Given the description of an element on the screen output the (x, y) to click on. 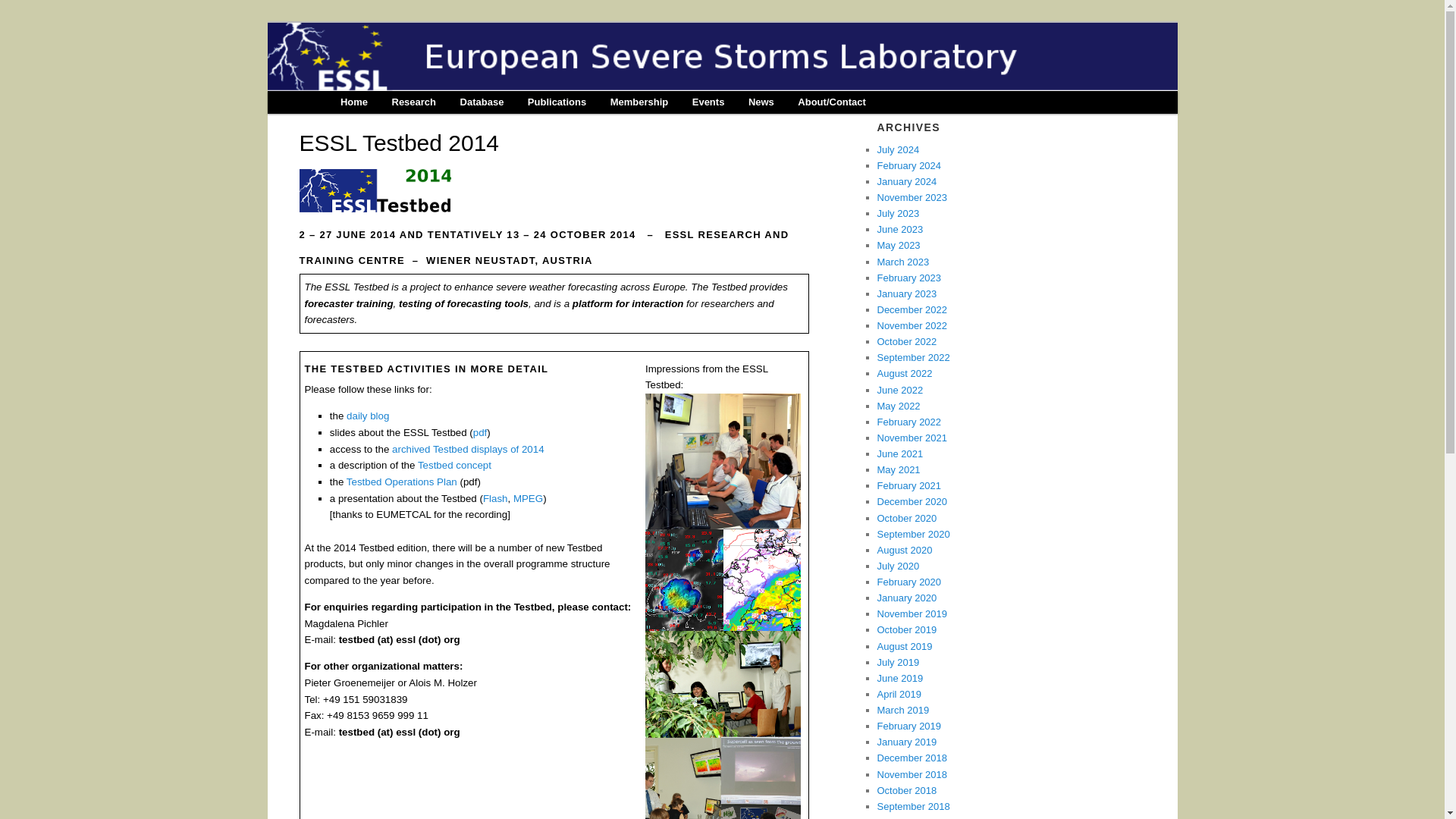
Testbed Operations Plan (401, 481)
Flash (495, 498)
archived Testbed displays of 2014 (467, 449)
Testbed concept (454, 464)
June 2023 (899, 229)
European Severe Storms Laboratory (464, 85)
July 2023 (897, 213)
January 2024 (906, 181)
daily blog (367, 415)
Publications (556, 101)
